Given the description of an element on the screen output the (x, y) to click on. 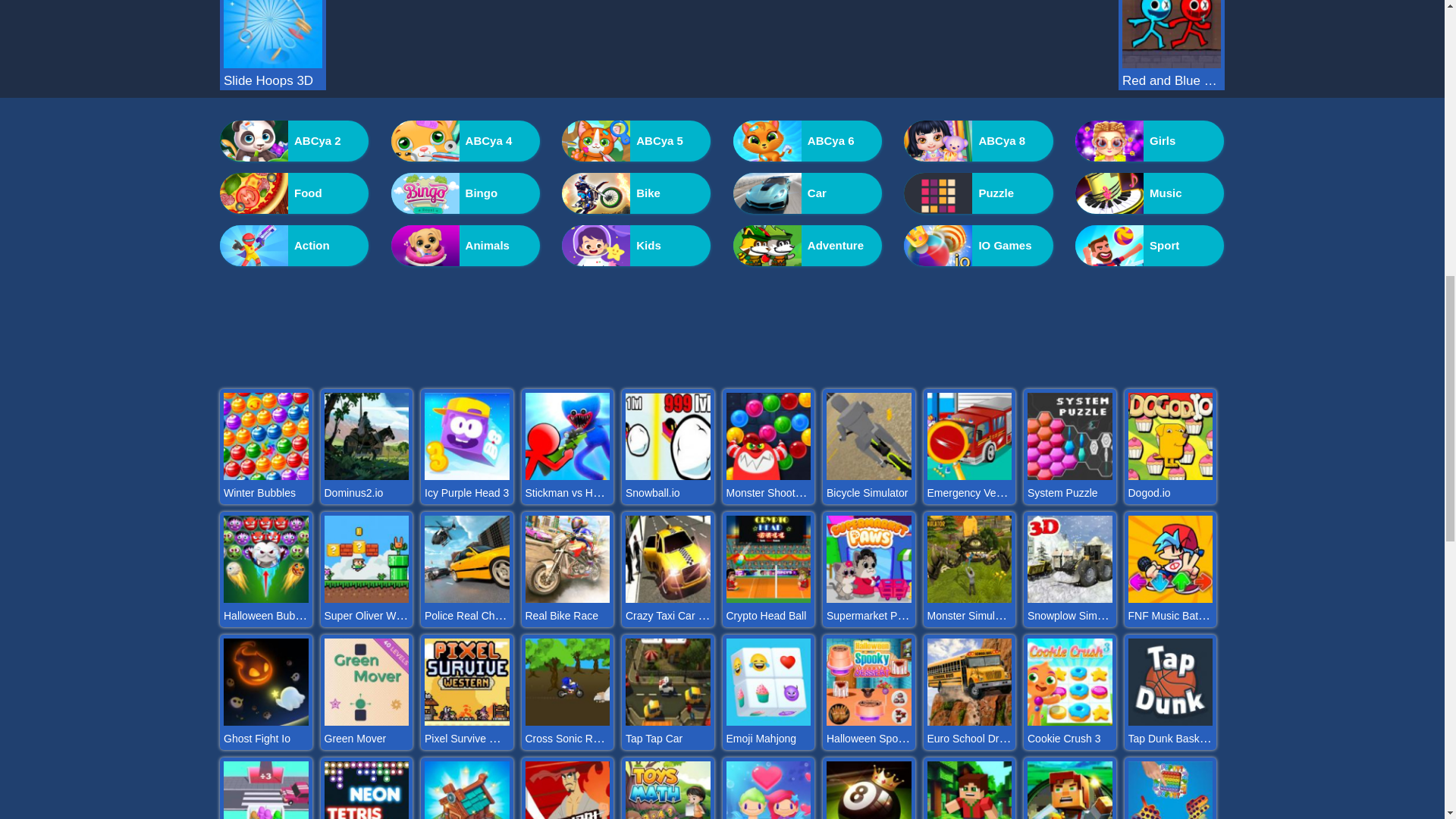
ABCya 6 (807, 140)
ABCya 5 (636, 140)
ABCya 4 (465, 140)
Slide Hoops 3D (272, 80)
Red and Blue Stickman 2 (1171, 80)
ABCya 2 (293, 140)
